Given the description of an element on the screen output the (x, y) to click on. 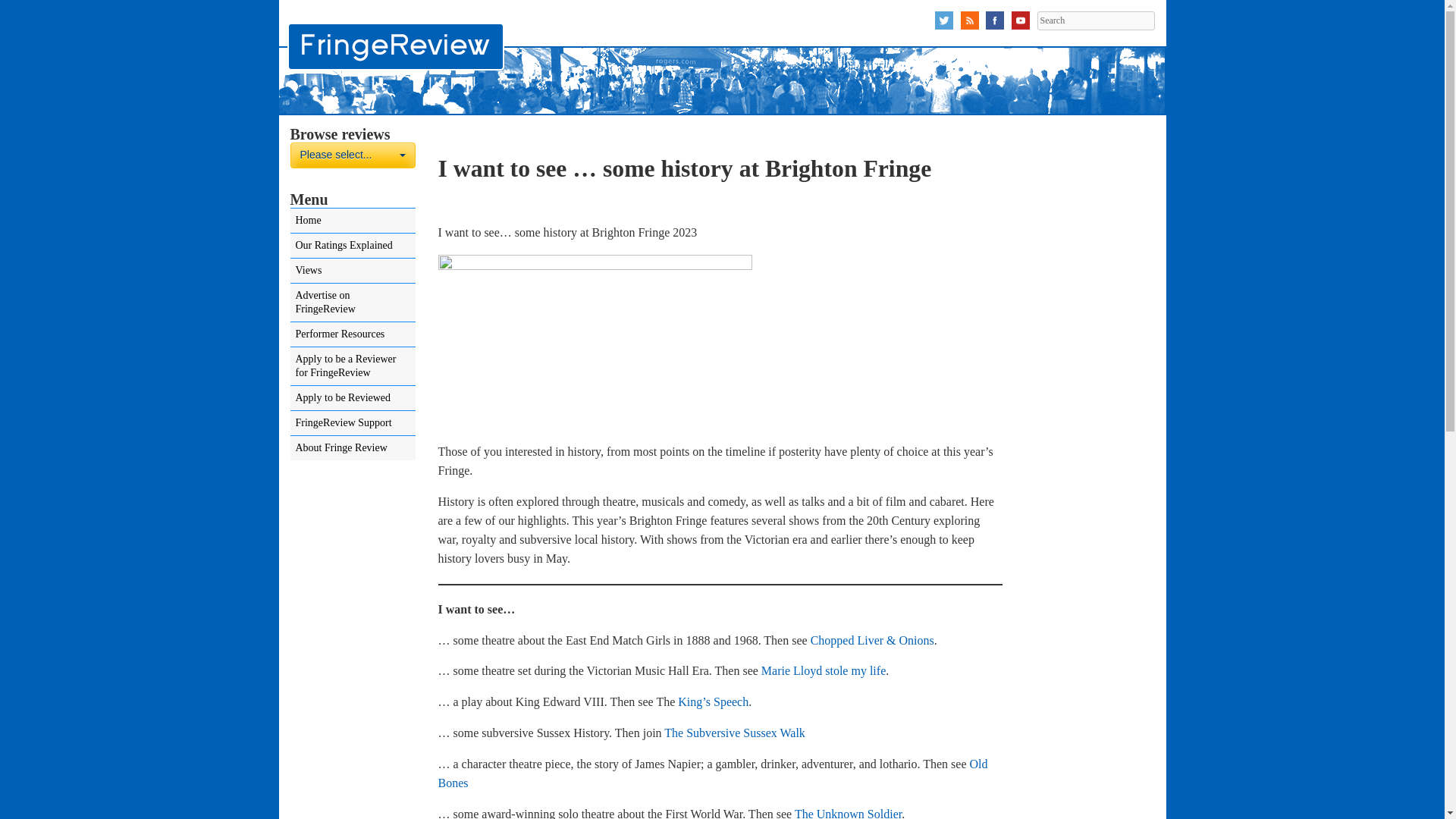
Please select... (351, 155)
Search (1095, 20)
Search (1095, 20)
Search for: (1095, 20)
